Given the description of an element on the screen output the (x, y) to click on. 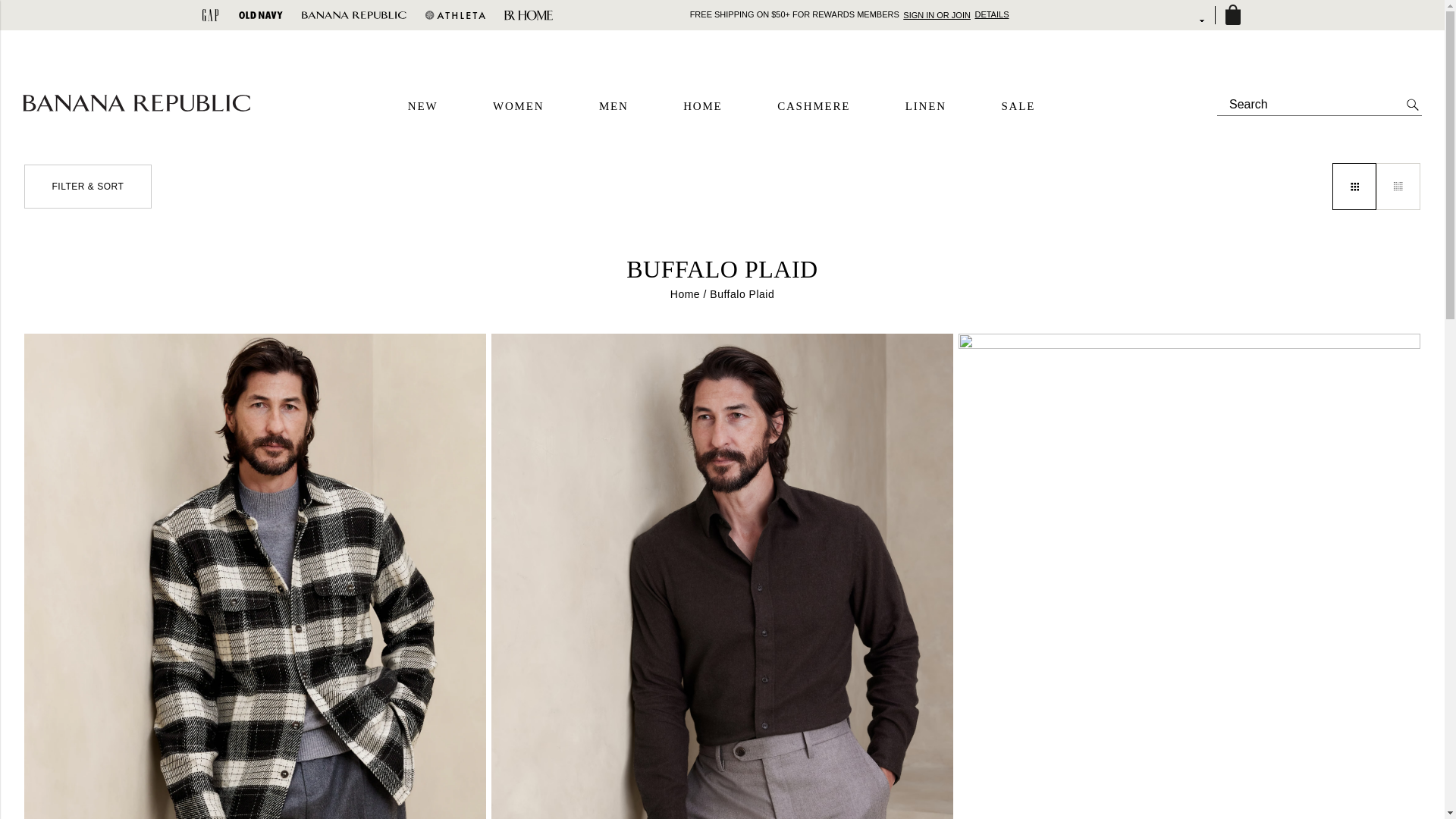
SALE (1018, 106)
DETAILS (991, 13)
NEW (422, 106)
SIGN IN OR JOIN (937, 14)
CASHMERE (813, 106)
HOME (702, 106)
MEN (613, 106)
Bag (1232, 15)
LINEN (925, 106)
WOMEN (518, 106)
